Given the description of an element on the screen output the (x, y) to click on. 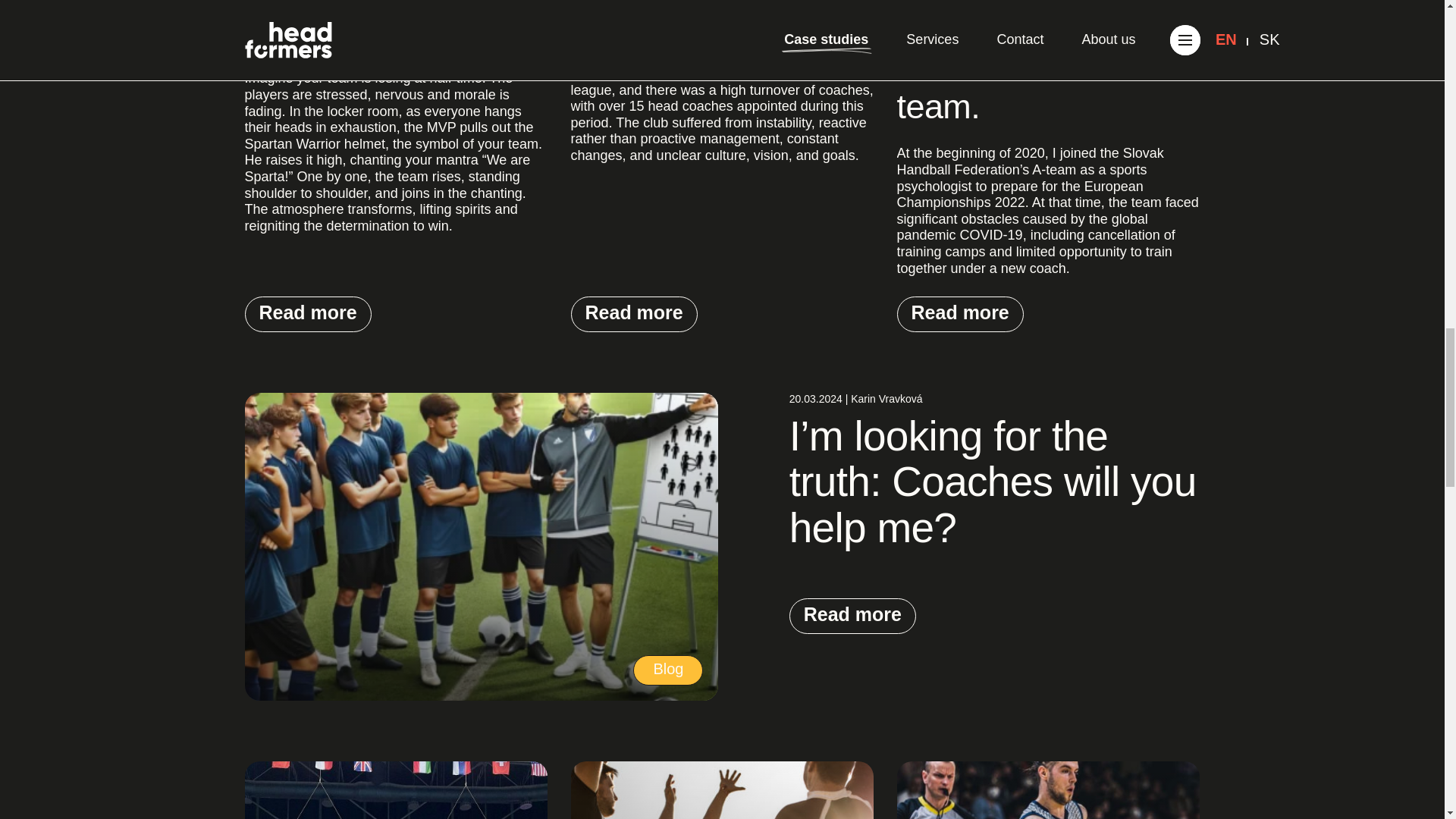
Read more (633, 314)
Read more (852, 615)
Read more (959, 314)
Read more (307, 314)
